Given the description of an element on the screen output the (x, y) to click on. 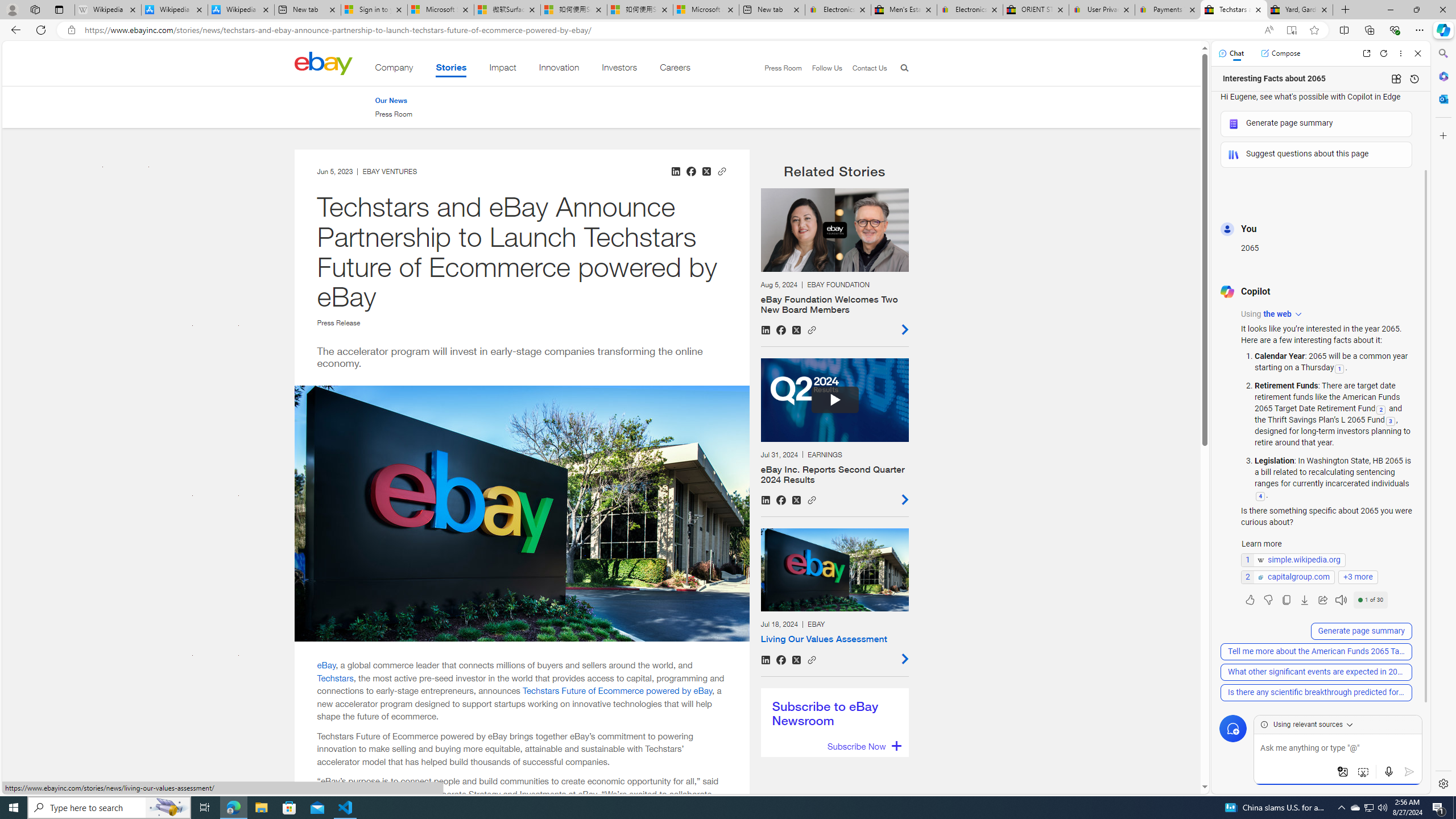
Investors (619, 69)
Microsoft account | Account Checkup (706, 9)
Careers (674, 69)
Our News (393, 100)
Share on LinkedIn (765, 659)
Contact Us (868, 67)
